Given the description of an element on the screen output the (x, y) to click on. 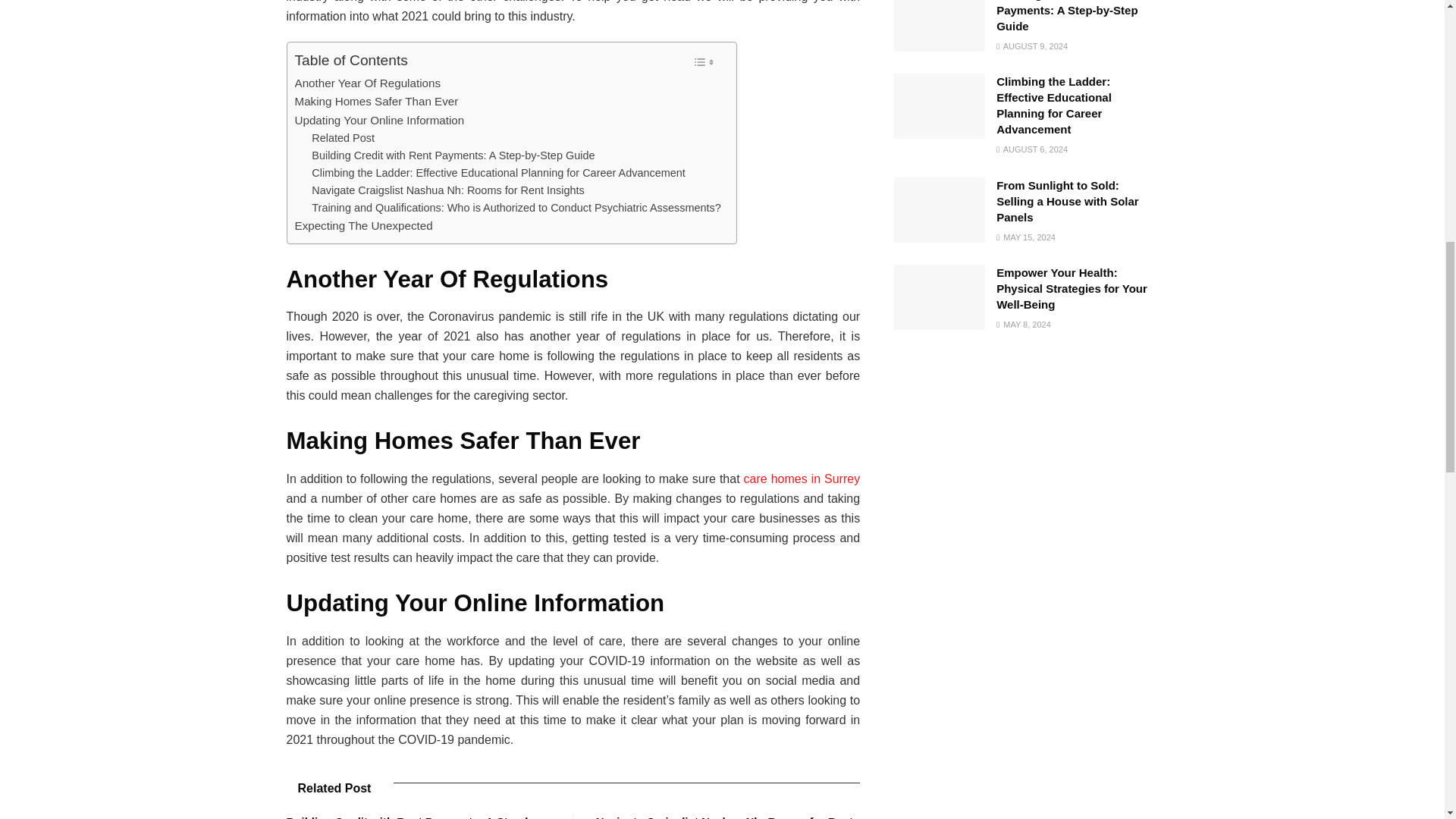
Navigate Craigslist Nashua Nh: Rooms for Rent Insights (448, 190)
Updating Your Online Information (379, 120)
Building Credit with Rent Payments: A Step-by-Step Guide (452, 155)
Related Post (342, 138)
